Given the description of an element on the screen output the (x, y) to click on. 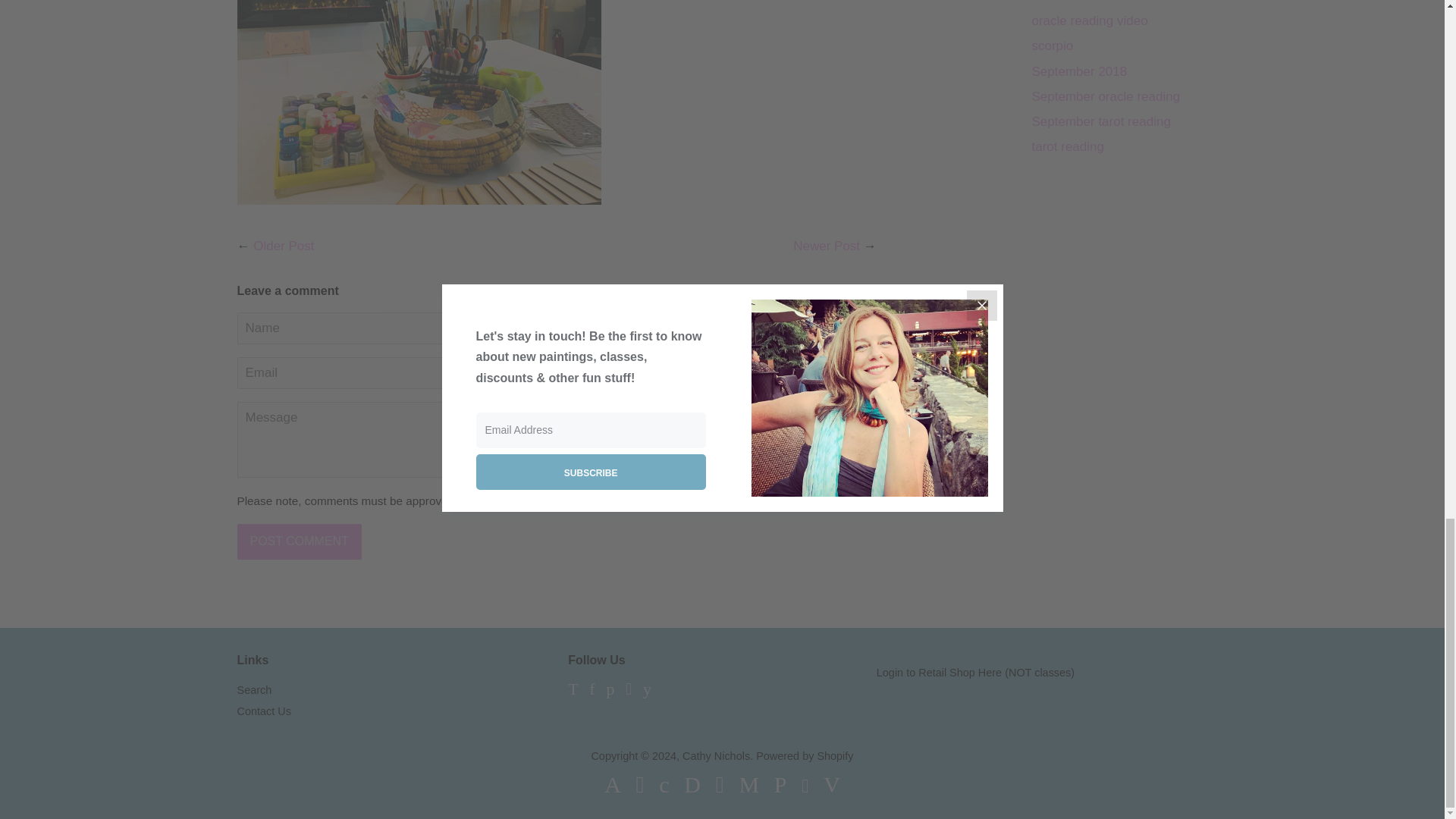
Post comment (298, 541)
Show articles tagged oracle deck class (1079, 1)
